Given the description of an element on the screen output the (x, y) to click on. 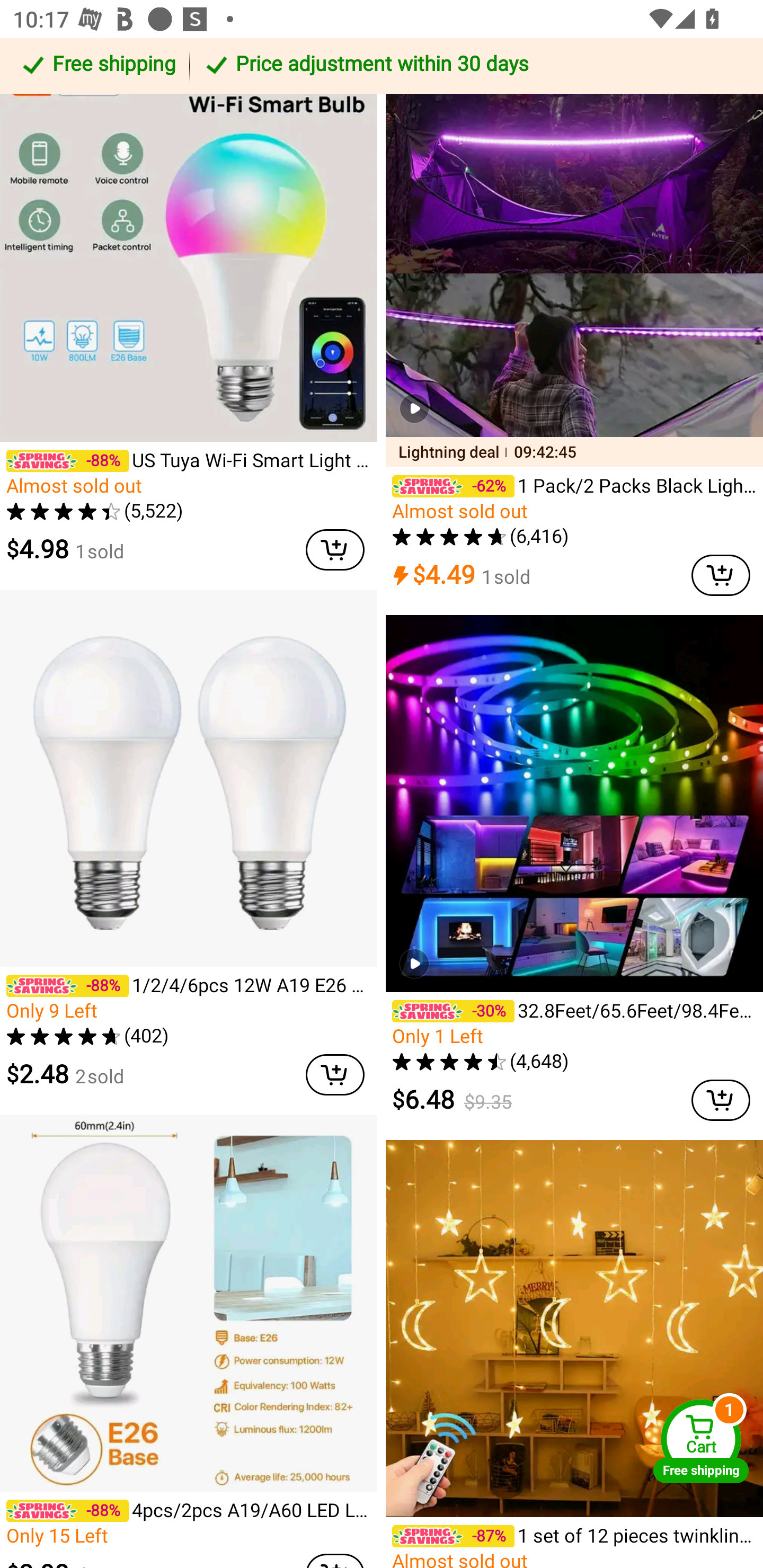
Free shipping (97, 65)
Price adjustment within 30 days (472, 65)
cart delete (334, 549)
cart delete (720, 575)
cart delete (334, 1074)
cart delete (720, 1100)
Cart Free shipping Cart (701, 1440)
